Given the description of an element on the screen output the (x, y) to click on. 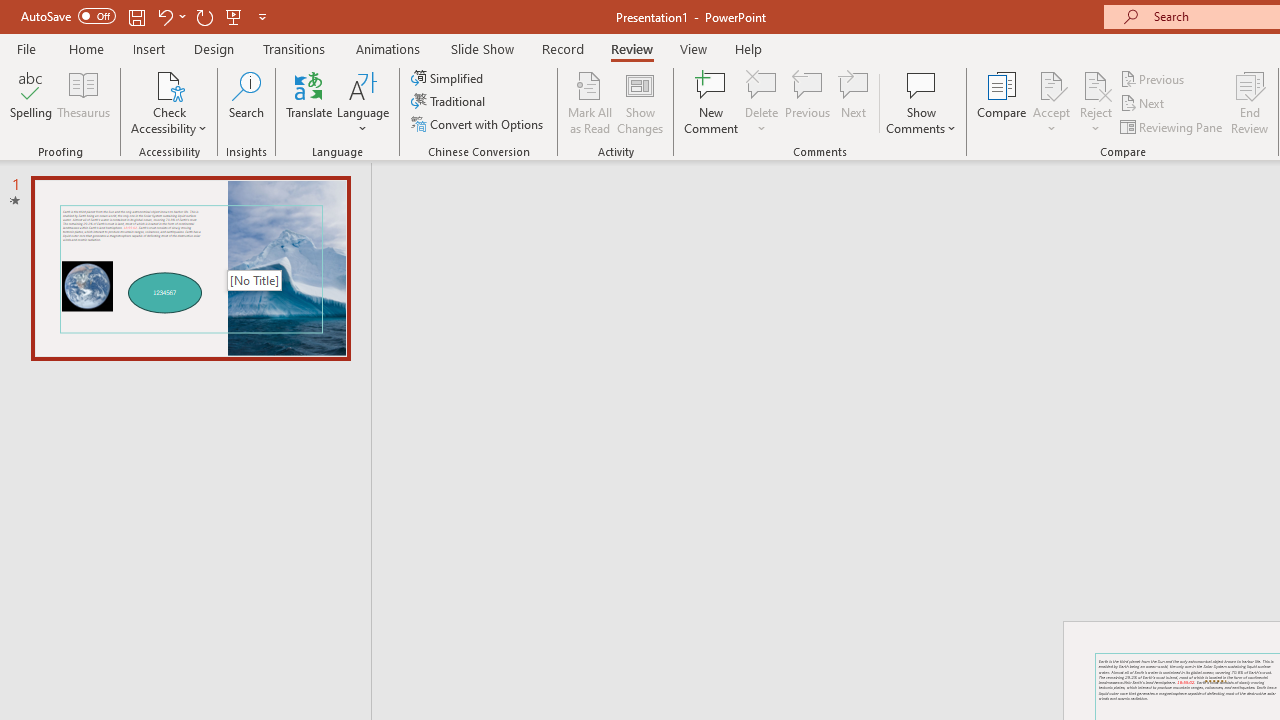
Show Comments (921, 102)
Translate (309, 102)
Traditional (449, 101)
New Comment (711, 102)
Next (1144, 103)
Language (363, 102)
